Given the description of an element on the screen output the (x, y) to click on. 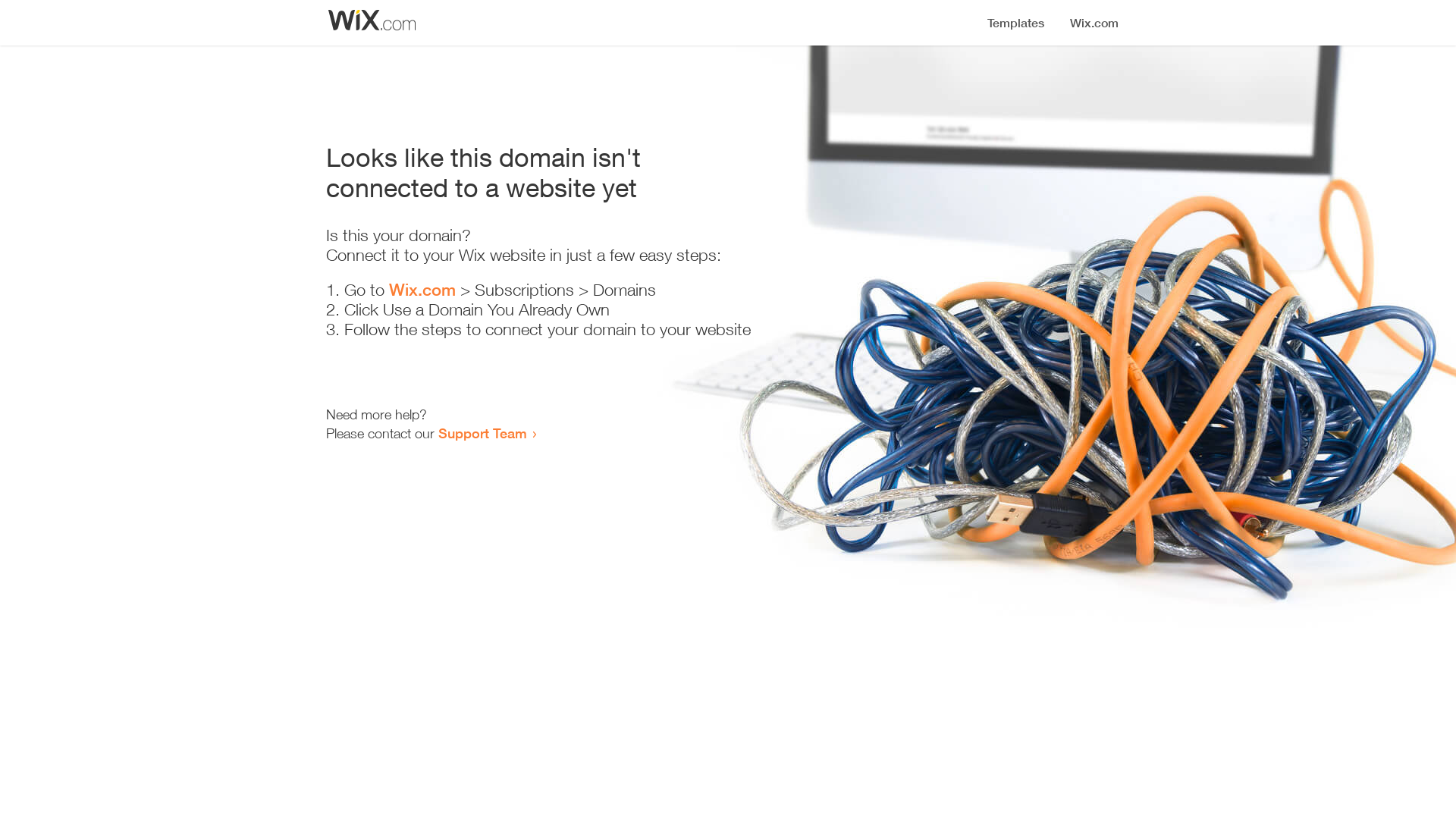
Support Team Element type: text (482, 432)
Wix.com Element type: text (422, 289)
